Given the description of an element on the screen output the (x, y) to click on. 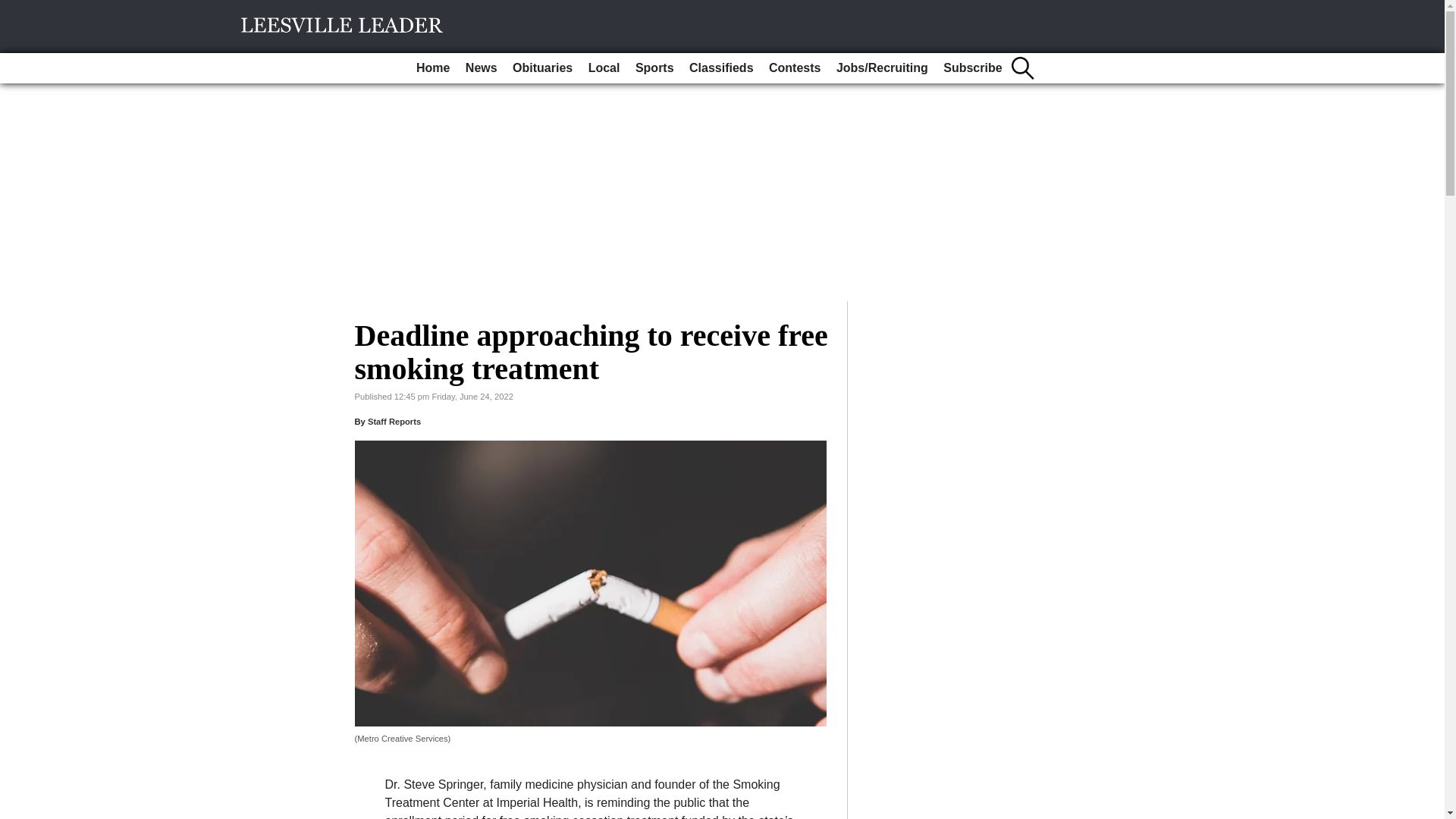
Go (13, 9)
Sports (653, 68)
Classifieds (720, 68)
Home (432, 68)
Subscribe (972, 68)
News (481, 68)
Obituaries (542, 68)
Contests (794, 68)
Local (604, 68)
Staff Reports (394, 420)
